Given the description of an element on the screen output the (x, y) to click on. 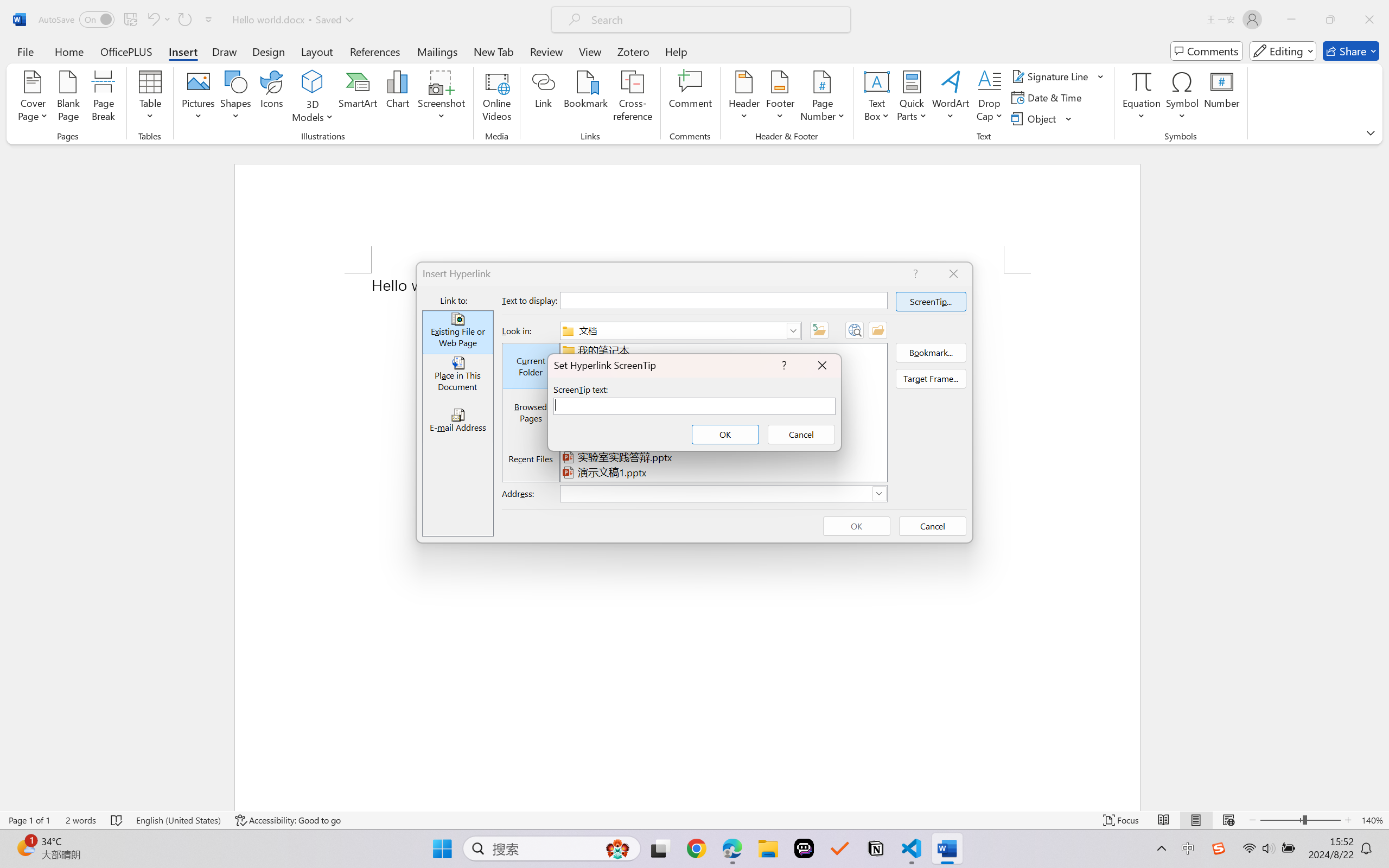
Class: Image (1218, 847)
Insert (182, 51)
Minimize (1291, 19)
Page Break (103, 97)
